Given the description of an element on the screen output the (x, y) to click on. 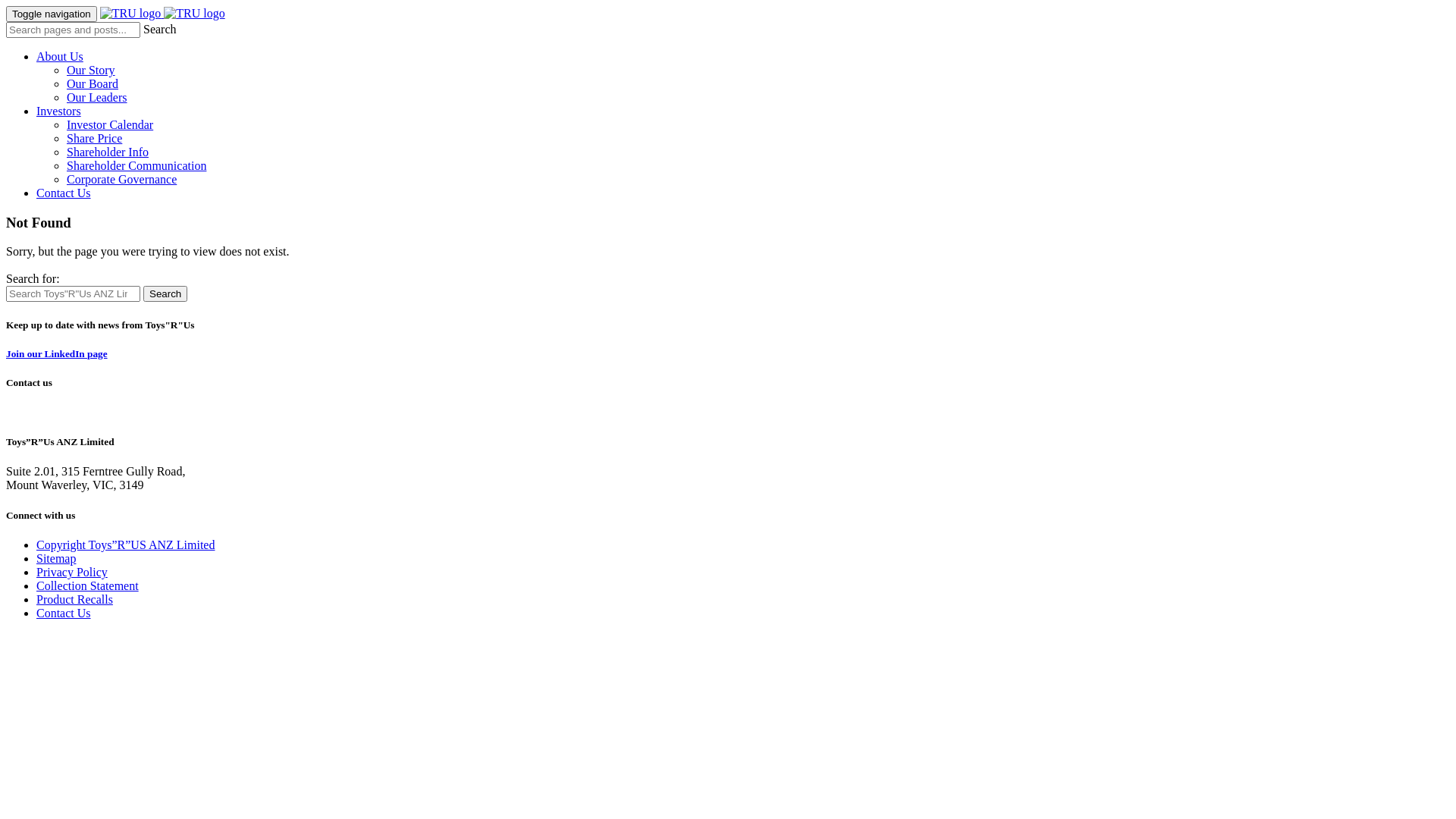
About Us Element type: text (59, 56)
Join our LinkedIn page Element type: text (56, 353)
Search Element type: text (165, 293)
Our Story Element type: text (90, 69)
Contact Us Element type: text (63, 192)
Collection Statement Element type: text (87, 585)
Our Board Element type: text (92, 83)
Shareholder Communication Element type: text (136, 165)
Investor Calendar Element type: text (109, 124)
Share Price Element type: text (94, 137)
Product Recalls Element type: text (74, 599)
Contact Us Element type: text (63, 612)
Shareholder Info Element type: text (107, 151)
Sitemap Element type: text (55, 558)
Privacy Policy Element type: text (71, 571)
Corporate Governance Element type: text (121, 178)
Our Leaders Element type: text (96, 97)
Toggle navigation Element type: text (51, 13)
Investors Element type: text (58, 110)
